Given the description of an element on the screen output the (x, y) to click on. 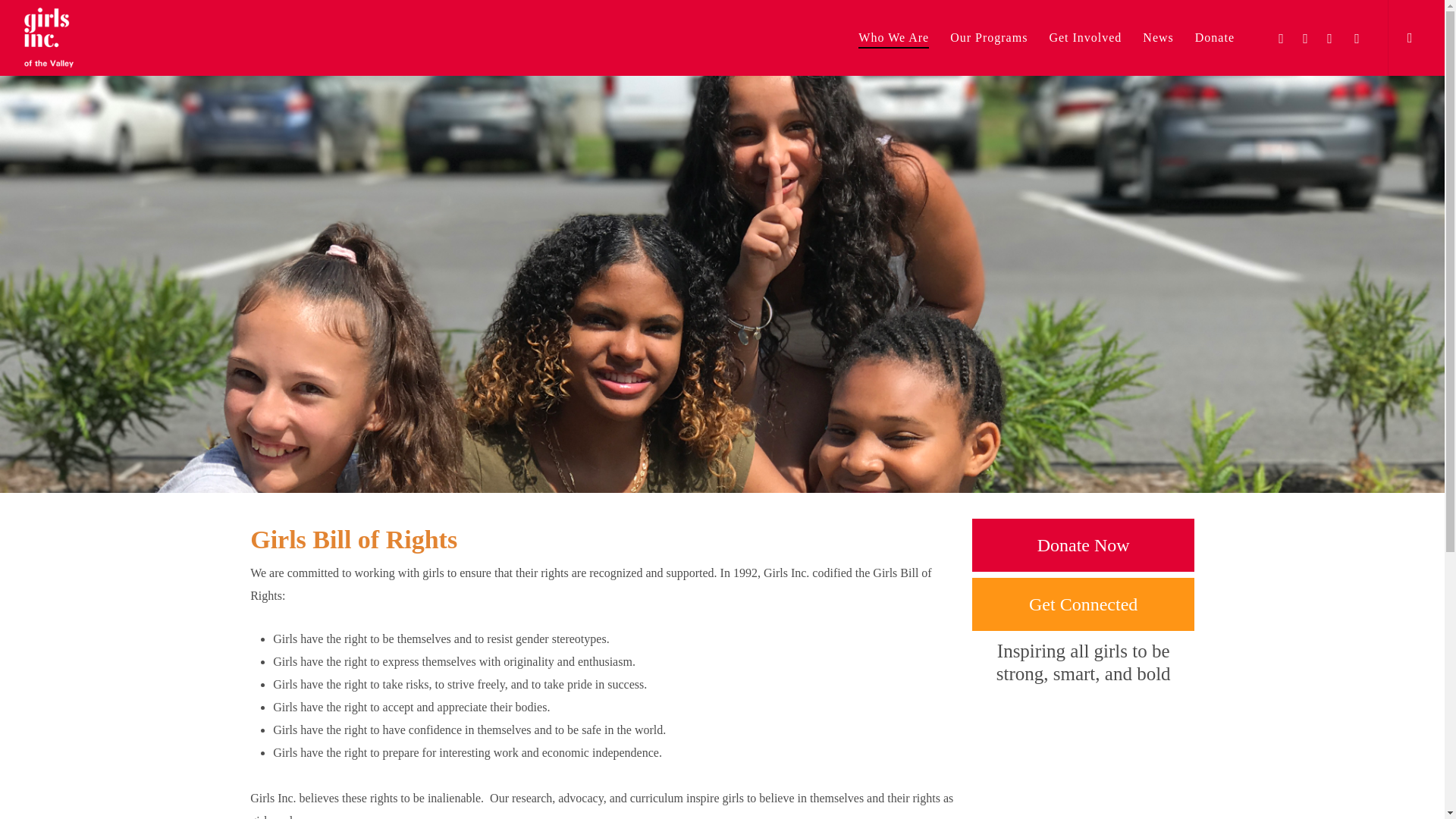
linkedin (1329, 37)
Donate (1214, 37)
News (1157, 37)
Donate Now (1082, 544)
Get Connected (1082, 604)
instagram (1357, 37)
Get Involved (1084, 37)
twitter (1281, 37)
Who We Are (893, 37)
Our Programs (988, 37)
facebook (1305, 37)
